Given the description of an element on the screen output the (x, y) to click on. 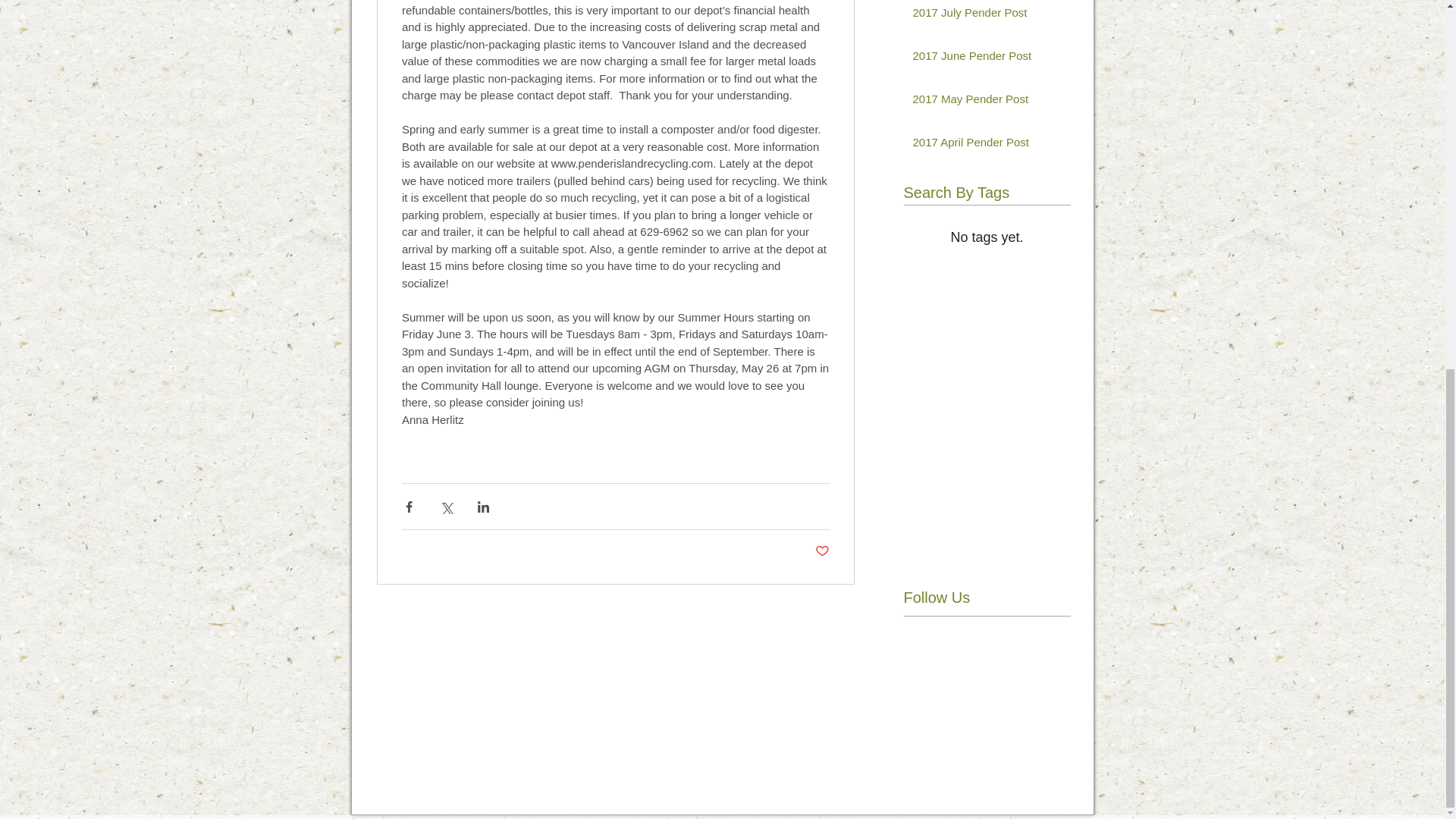
2017 June Pender Post (981, 58)
2017 July Pender Post (981, 15)
Post not marked as liked (820, 551)
2017 May Pender Post (981, 101)
2017 April Pender Post (981, 145)
